Given the description of an element on the screen output the (x, y) to click on. 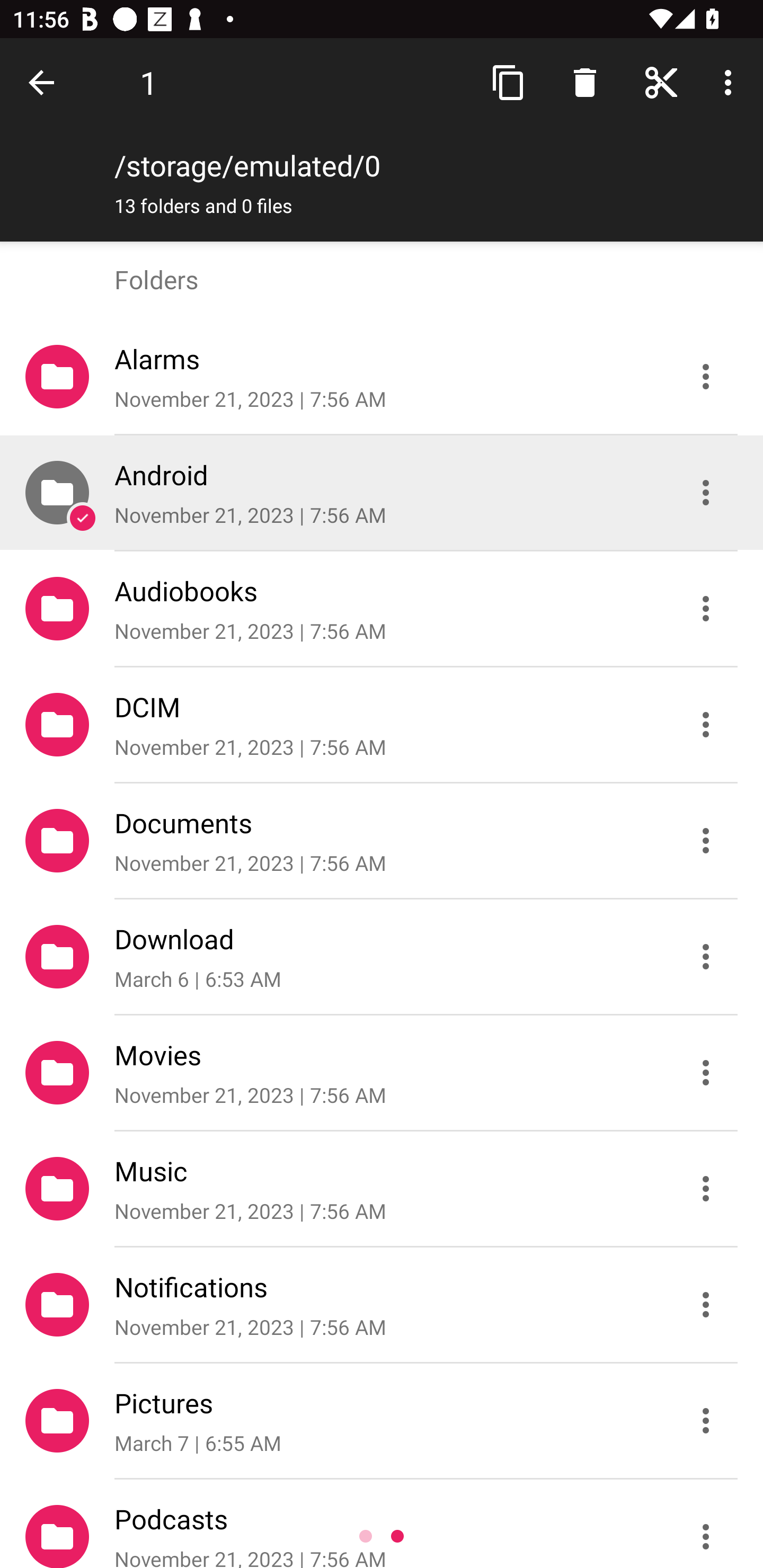
1 (148, 82)
Done (44, 81)
Copy (508, 81)
Search (585, 81)
Home (661, 81)
More options (731, 81)
Alarms November 21, 2023 | 7:56 AM (381, 376)
Android November 21, 2023 | 7:56 AM (381, 492)
Audiobooks November 21, 2023 | 7:56 AM (381, 608)
DCIM November 21, 2023 | 7:56 AM (381, 724)
Documents November 21, 2023 | 7:56 AM (381, 841)
Download March 6 | 6:53 AM (381, 957)
Movies November 21, 2023 | 7:56 AM (381, 1073)
Music November 21, 2023 | 7:56 AM (381, 1189)
Notifications November 21, 2023 | 7:56 AM (381, 1305)
Pictures March 7 | 6:55 AM (381, 1421)
Podcasts November 21, 2023 | 7:56 AM (381, 1524)
